Given the description of an element on the screen output the (x, y) to click on. 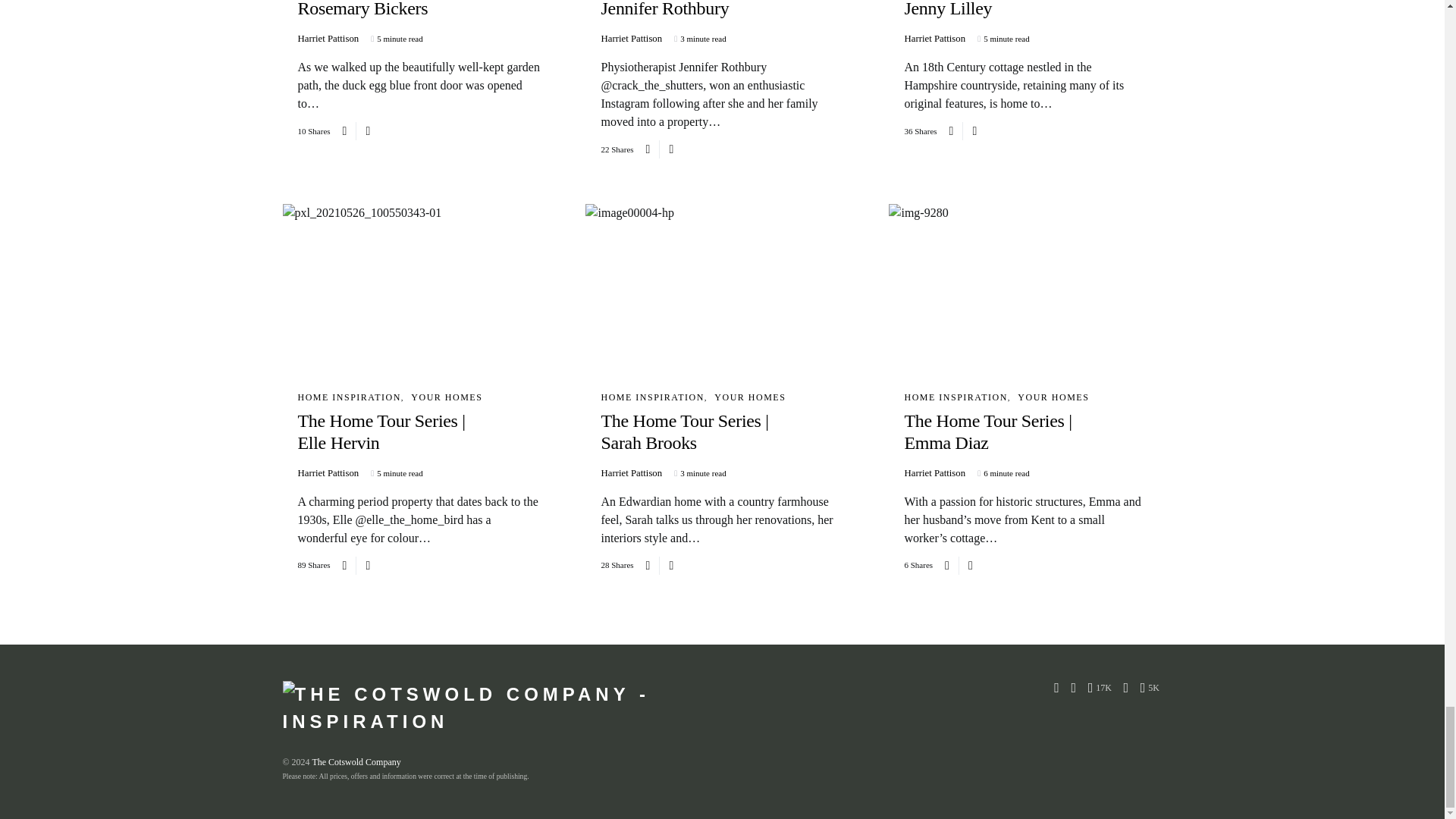
View all posts by Harriet Pattison (327, 38)
View all posts by Harriet Pattison (934, 38)
View all posts by Harriet Pattison (934, 473)
View all posts by Harriet Pattison (630, 473)
View all posts by Harriet Pattison (630, 38)
View all posts by Harriet Pattison (327, 473)
